Given the description of an element on the screen output the (x, y) to click on. 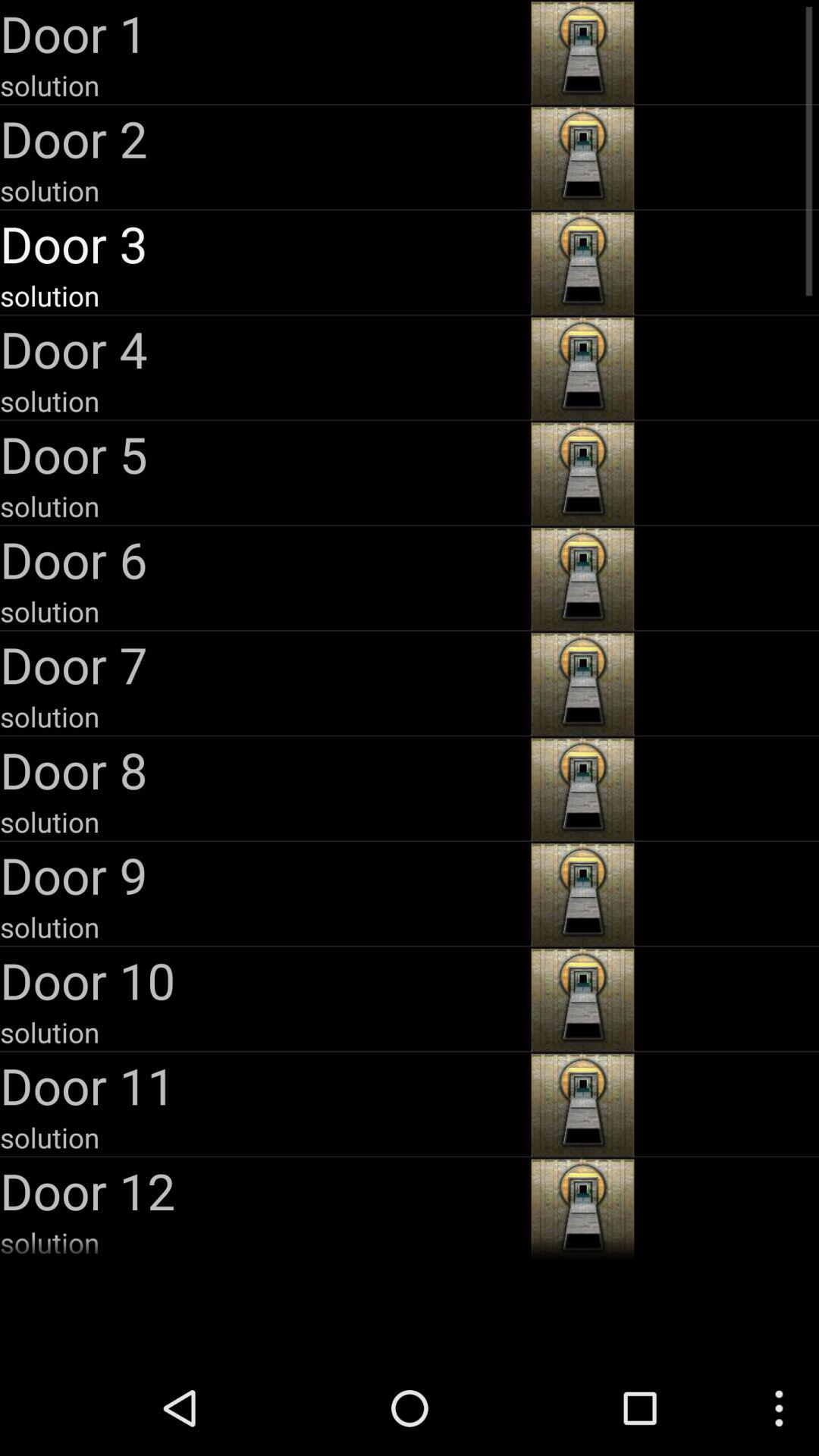
choose the door 11 app (263, 1085)
